Given the description of an element on the screen output the (x, y) to click on. 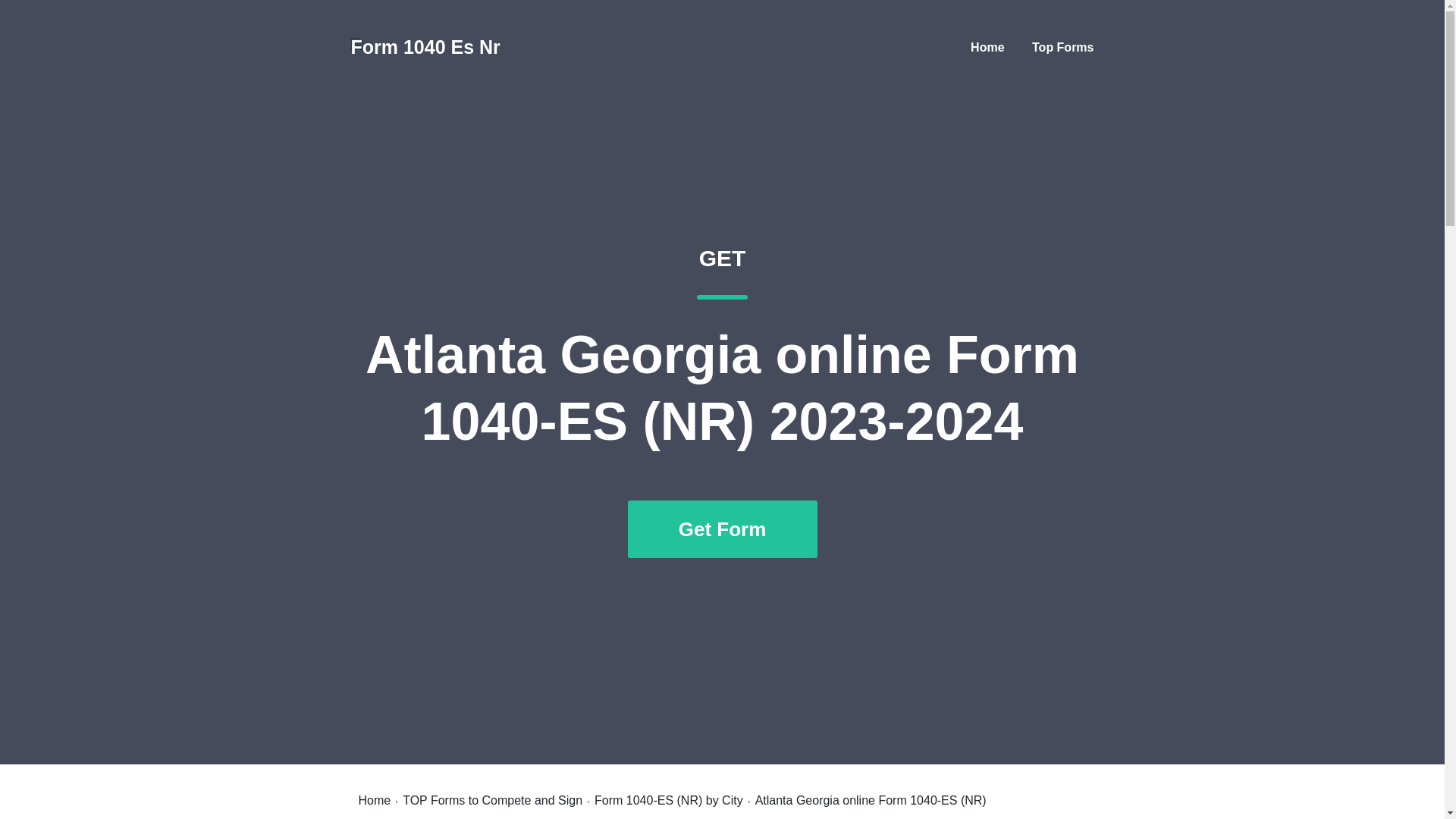
Form 1040 Es Nr (424, 46)
TOP Forms to Compete and Sign (492, 800)
Top Forms (1062, 47)
Home (374, 800)
Home (987, 47)
